Given the description of an element on the screen output the (x, y) to click on. 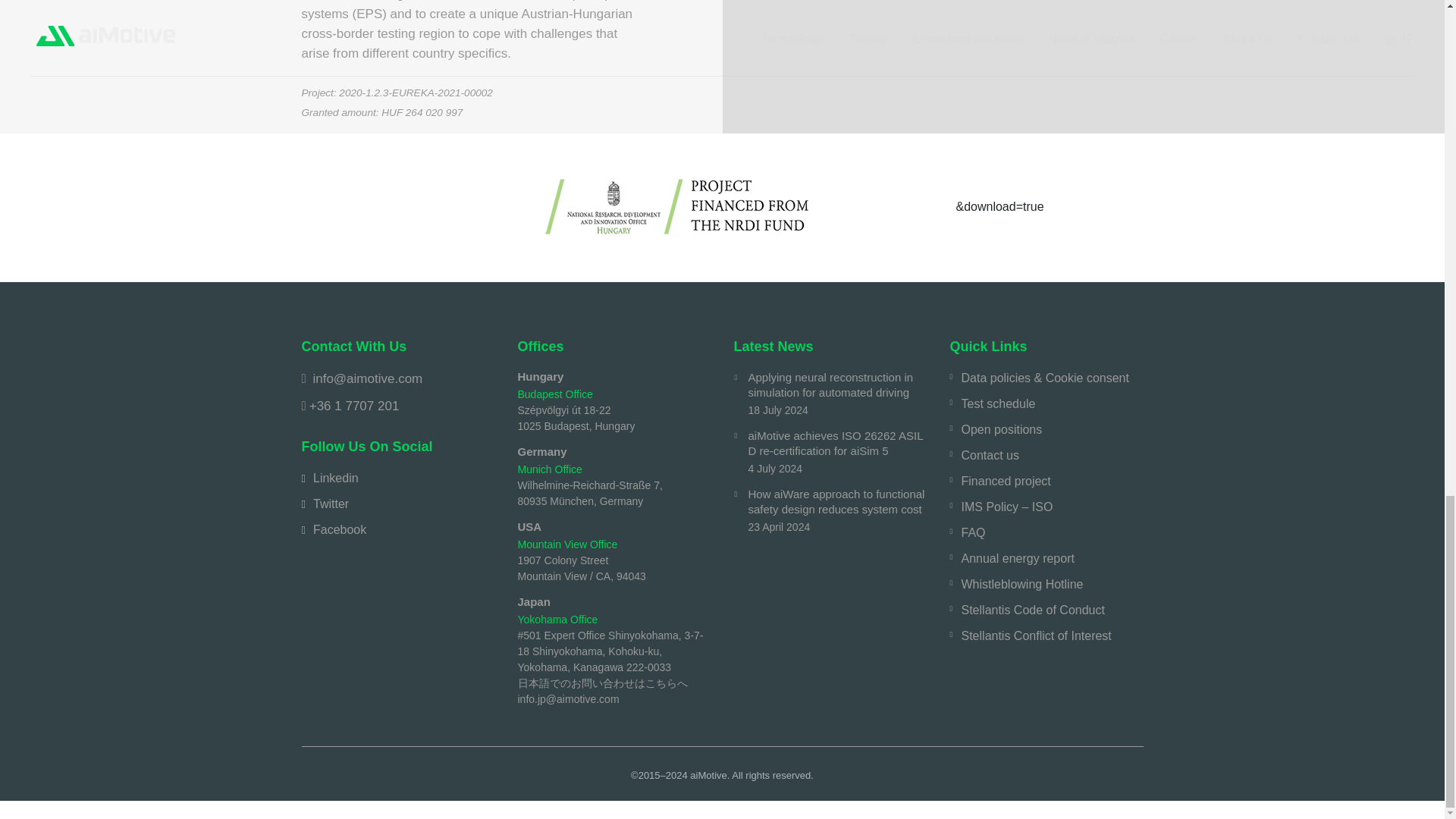
Financed project (1005, 481)
Budapest Office (554, 394)
Stellantis Code of Conduct (1032, 610)
Whistleblowing Hotline (1021, 584)
Munich Office (548, 469)
Annual energy report (1017, 558)
Open positions (1001, 429)
Mountain View Office (566, 544)
Twitter (331, 504)
